Given the description of an element on the screen output the (x, y) to click on. 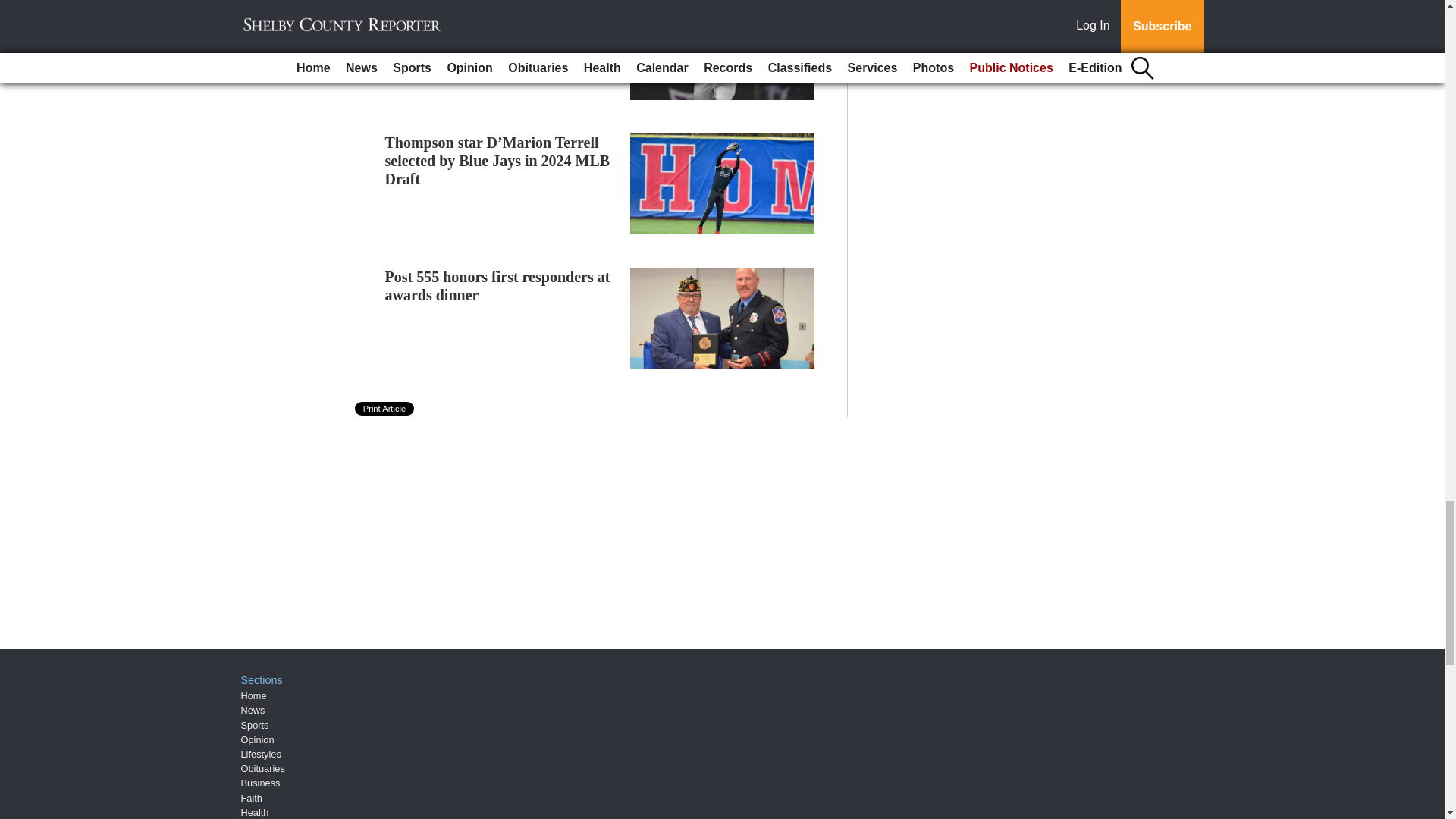
Post 555 honors first responders at awards dinner (497, 285)
